Given the description of an element on the screen output the (x, y) to click on. 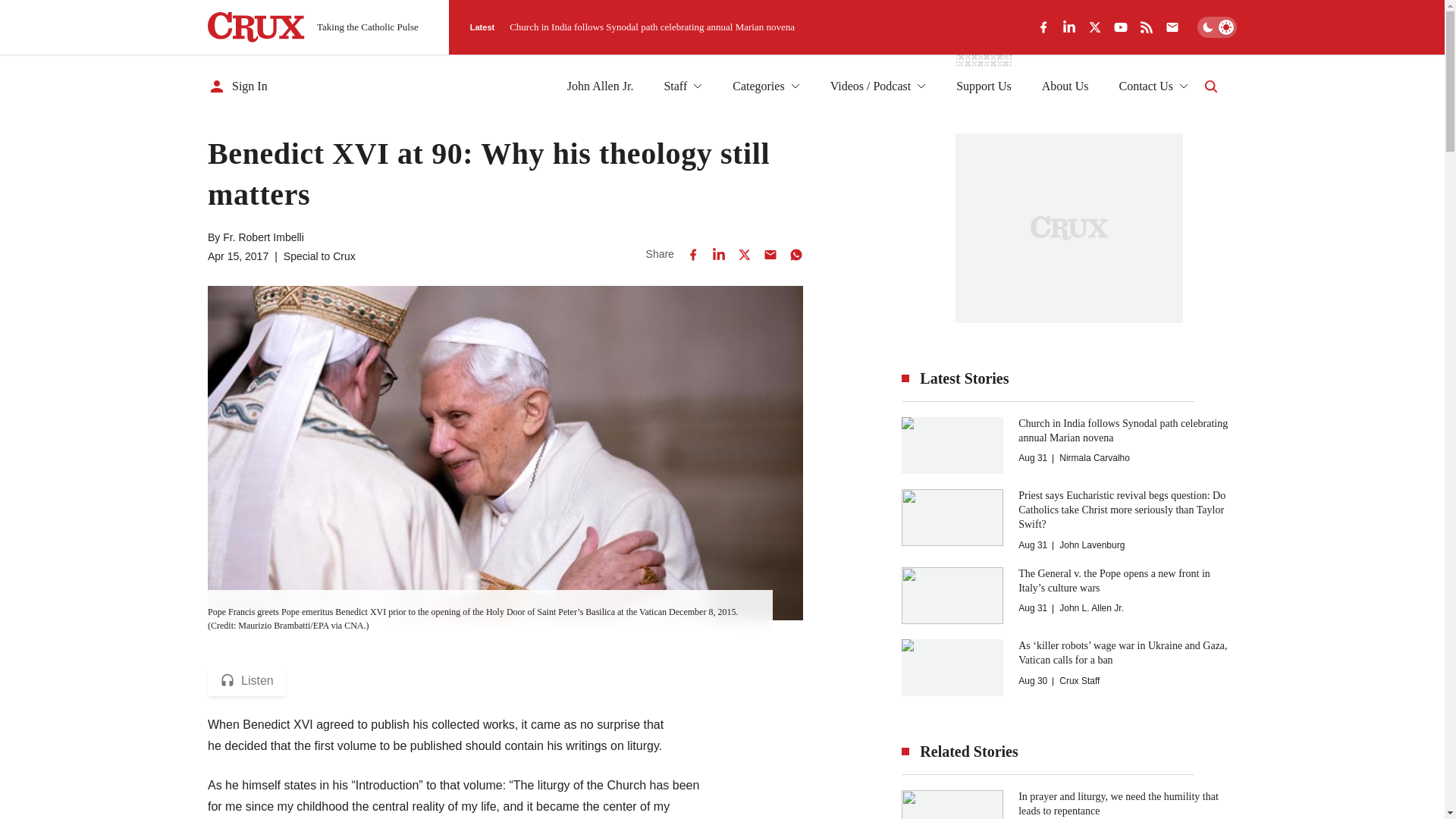
Contact Us (1153, 85)
About Us (1065, 85)
Sign In (237, 85)
Support Us (983, 85)
Staff (682, 85)
Categories (765, 85)
John Allen Jr. (600, 85)
